Given the description of an element on the screen output the (x, y) to click on. 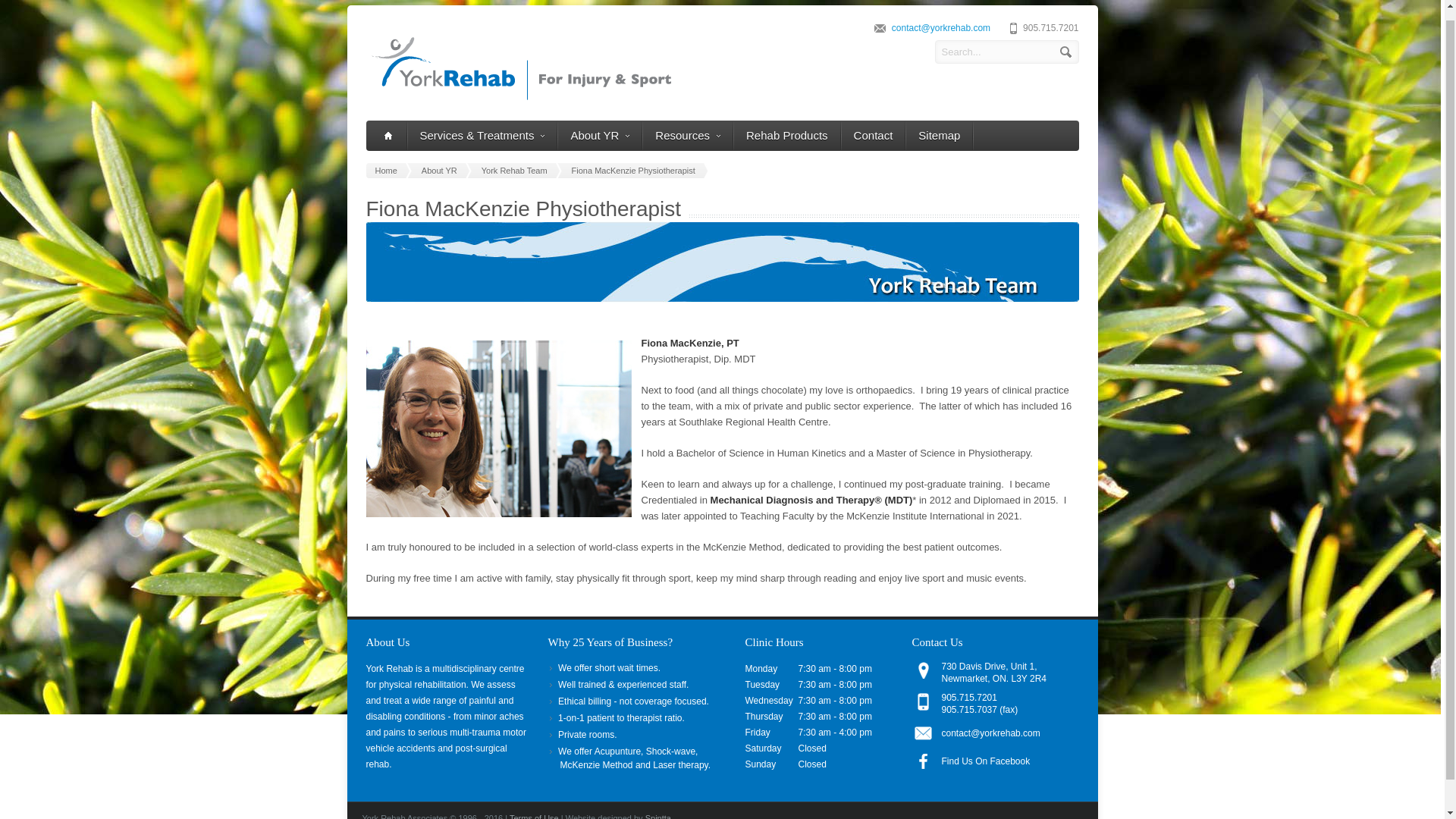
Fiona MacKenzie Physiotherapist (636, 170)
About YR (599, 135)
York Rehab Team (516, 170)
About YR (441, 170)
Search... (1006, 51)
